Given the description of an element on the screen output the (x, y) to click on. 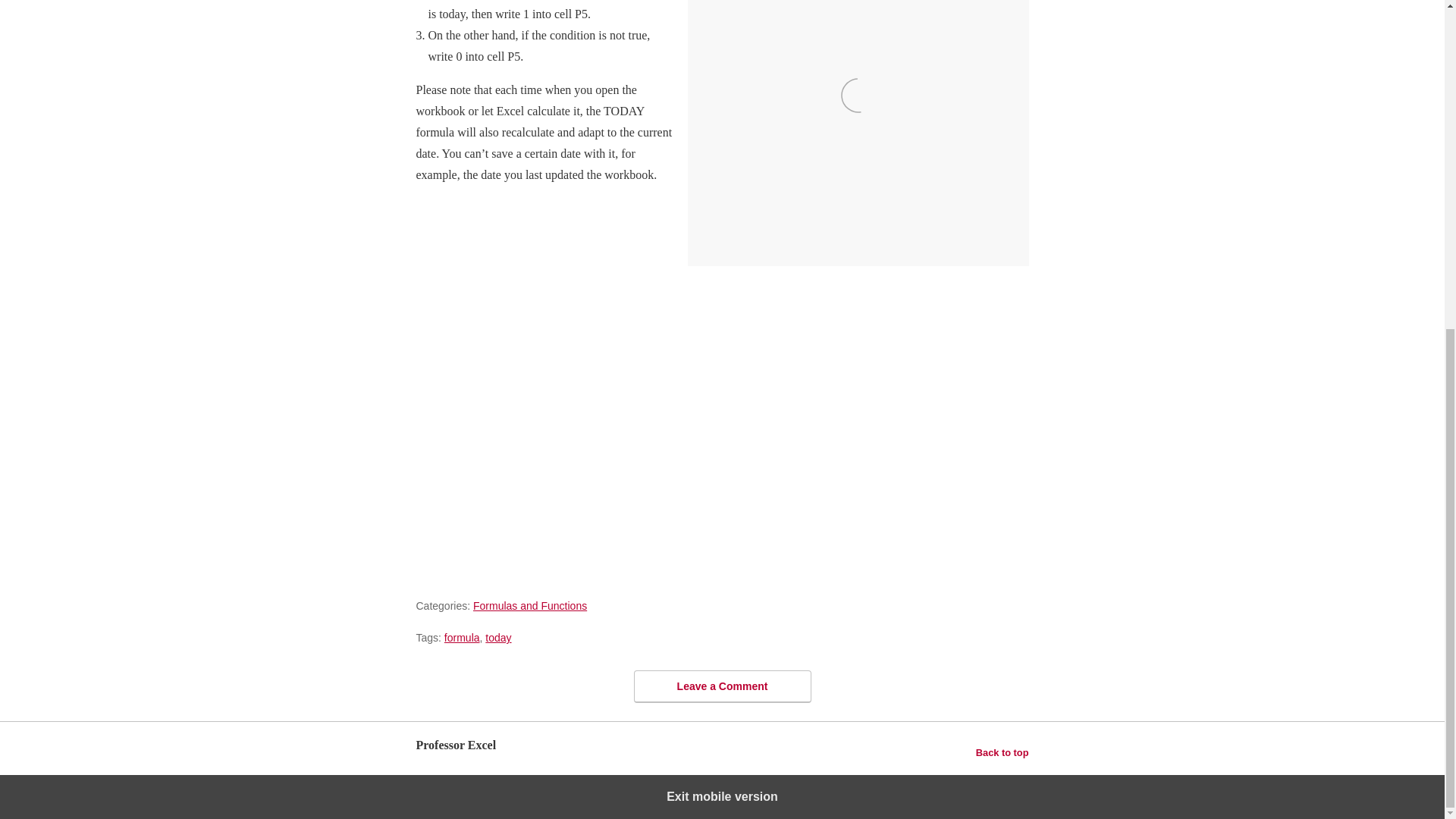
formula (462, 637)
Back to top (1002, 752)
today (497, 637)
Formulas and Functions (529, 605)
Leave a Comment (721, 686)
